Given the description of an element on the screen output the (x, y) to click on. 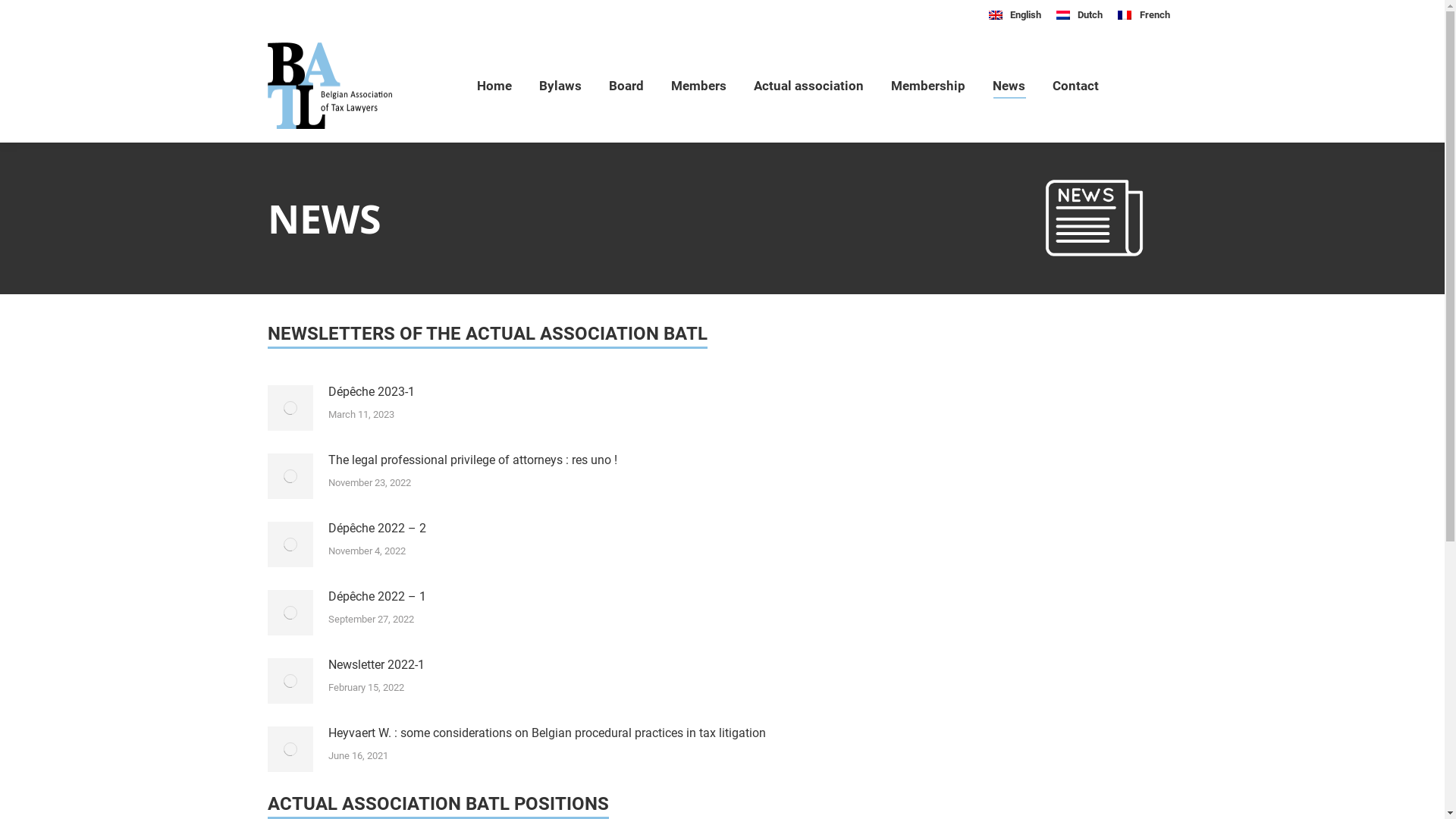
news-batl Element type: hover (1093, 218)
Bylaws Element type: text (560, 85)
The legal professional privilege of attorneys : res uno ! Element type: text (471, 459)
Home Element type: text (493, 85)
Members Element type: text (698, 85)
Newsletter 2022-1 Element type: text (375, 664)
Actual association Element type: text (808, 85)
News Element type: text (1008, 85)
French Element type: text (1143, 14)
Board Element type: text (625, 85)
Membership Element type: text (928, 85)
Contact Element type: text (1075, 85)
Dutch Element type: text (1079, 14)
Nederlands Element type: hover (1063, 14)
English Element type: text (1014, 14)
English Element type: hover (995, 14)
